Given the description of an element on the screen output the (x, y) to click on. 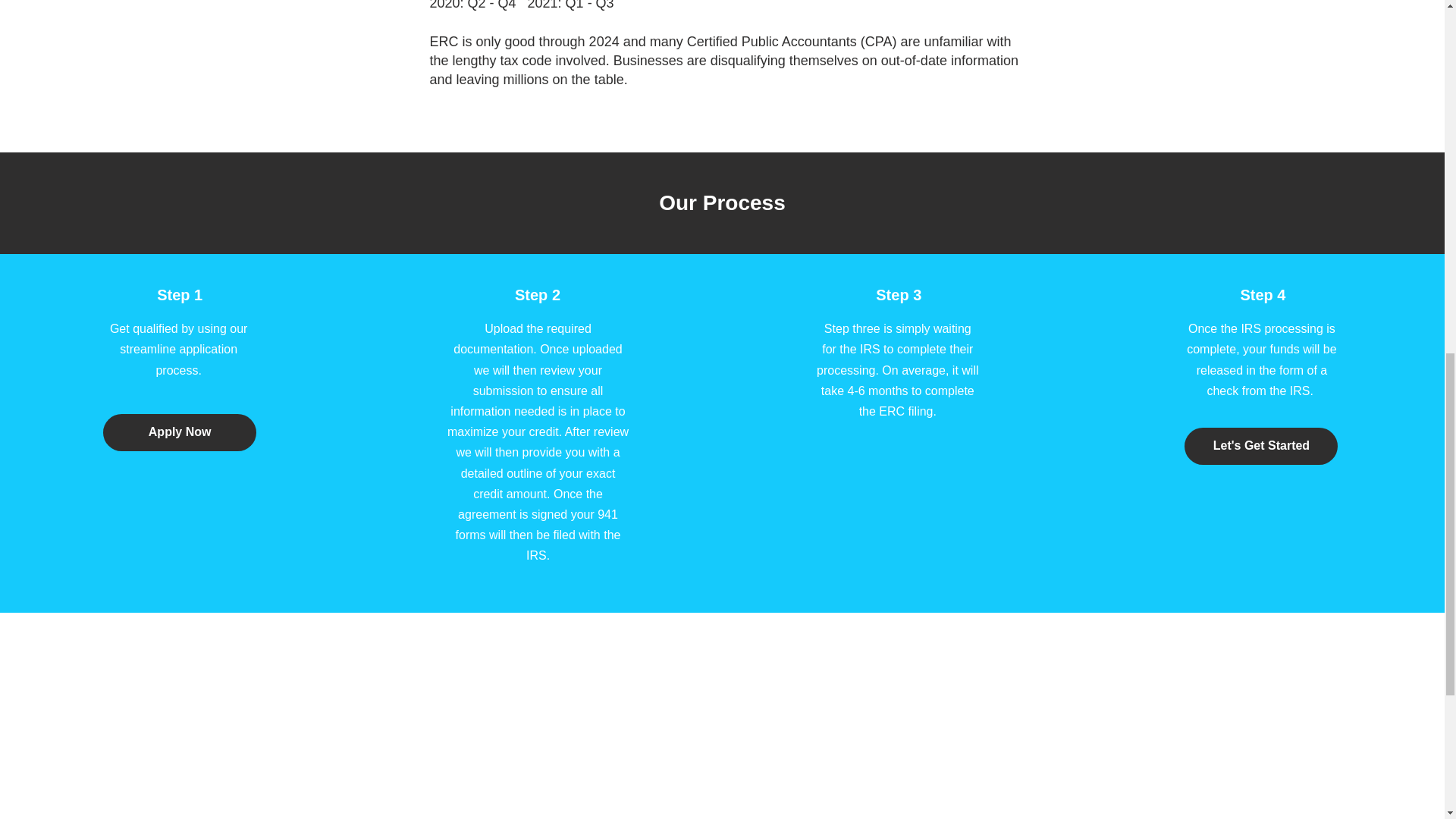
Apply Now (179, 432)
Let's Get Started (1261, 446)
